Given the description of an element on the screen output the (x, y) to click on. 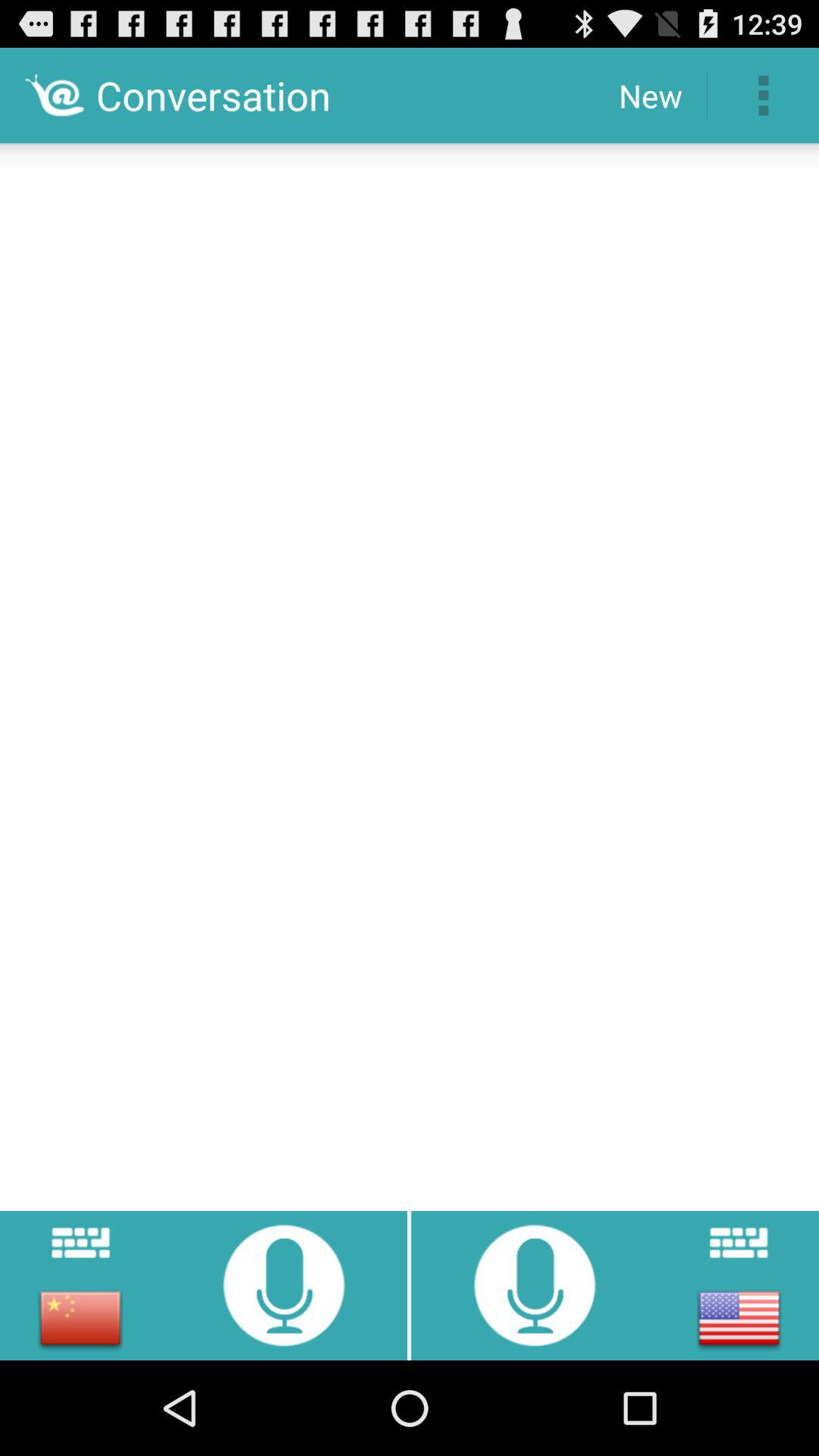
flip to new (650, 95)
